Given the description of an element on the screen output the (x, y) to click on. 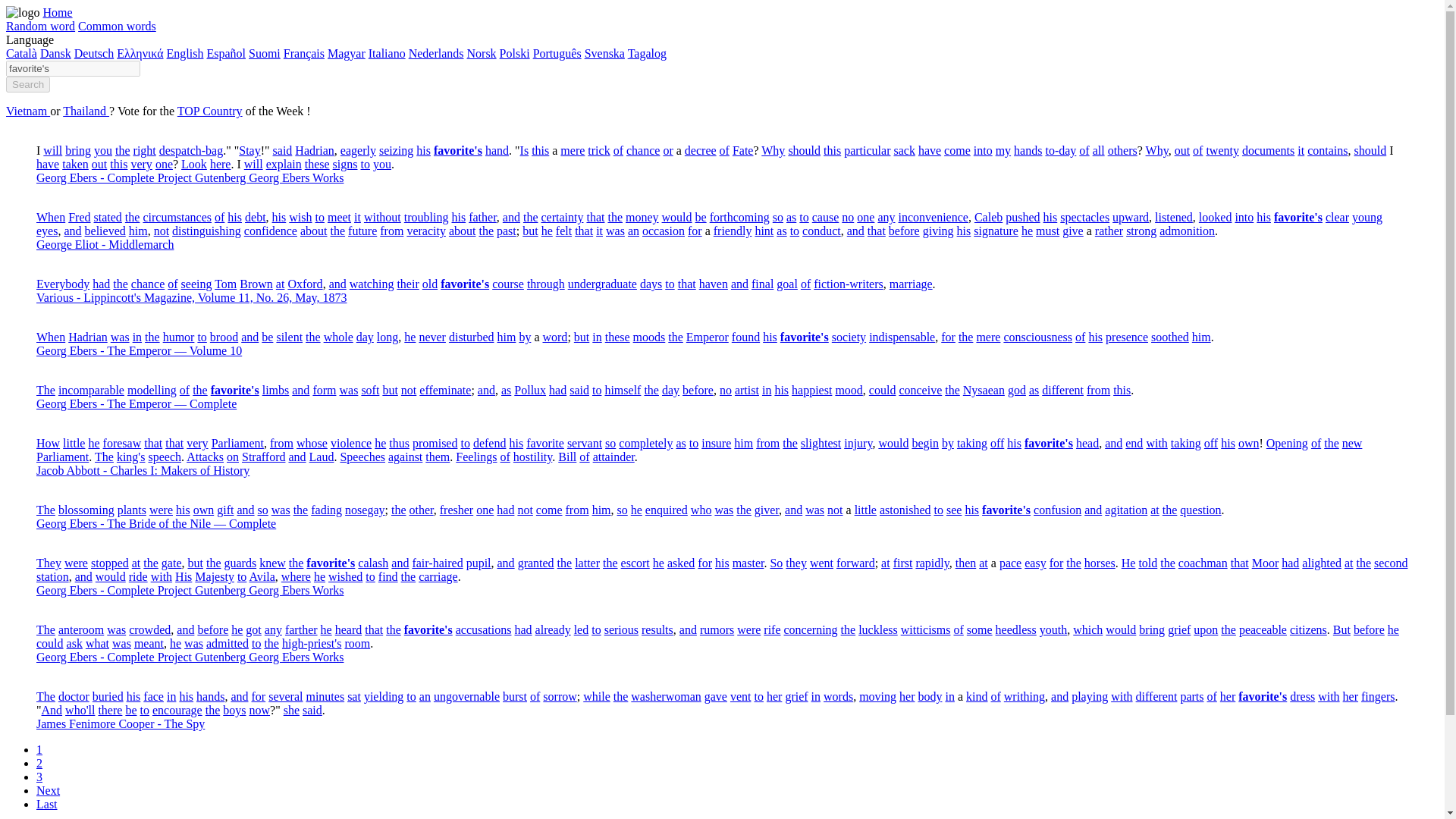
Click to find the word in context (314, 150)
Language (29, 39)
Tagalog (646, 52)
Click to find the word in context (496, 150)
eagerly (357, 150)
Click to find the word in context (190, 150)
Click to find the word in context (642, 150)
Click to find the word in context (572, 150)
Svenska (604, 52)
Hadrian (314, 150)
Click to find the word in context (77, 150)
Click to find the word in context (395, 150)
will (52, 150)
you (103, 150)
right (144, 150)
